Given the description of an element on the screen output the (x, y) to click on. 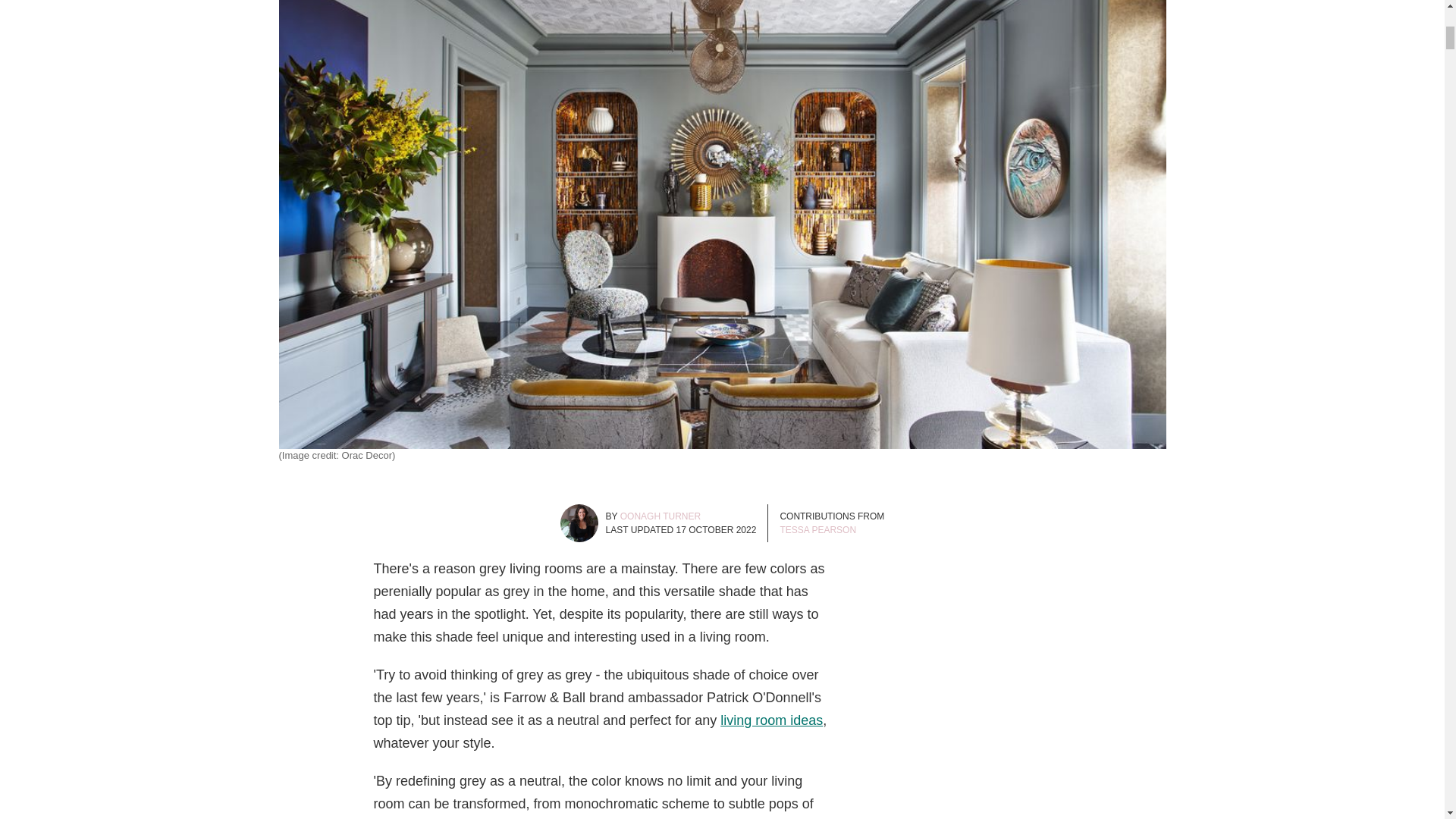
living room ideas (771, 720)
TESSA PEARSON (817, 529)
OONAGH TURNER (660, 516)
